Given the description of an element on the screen output the (x, y) to click on. 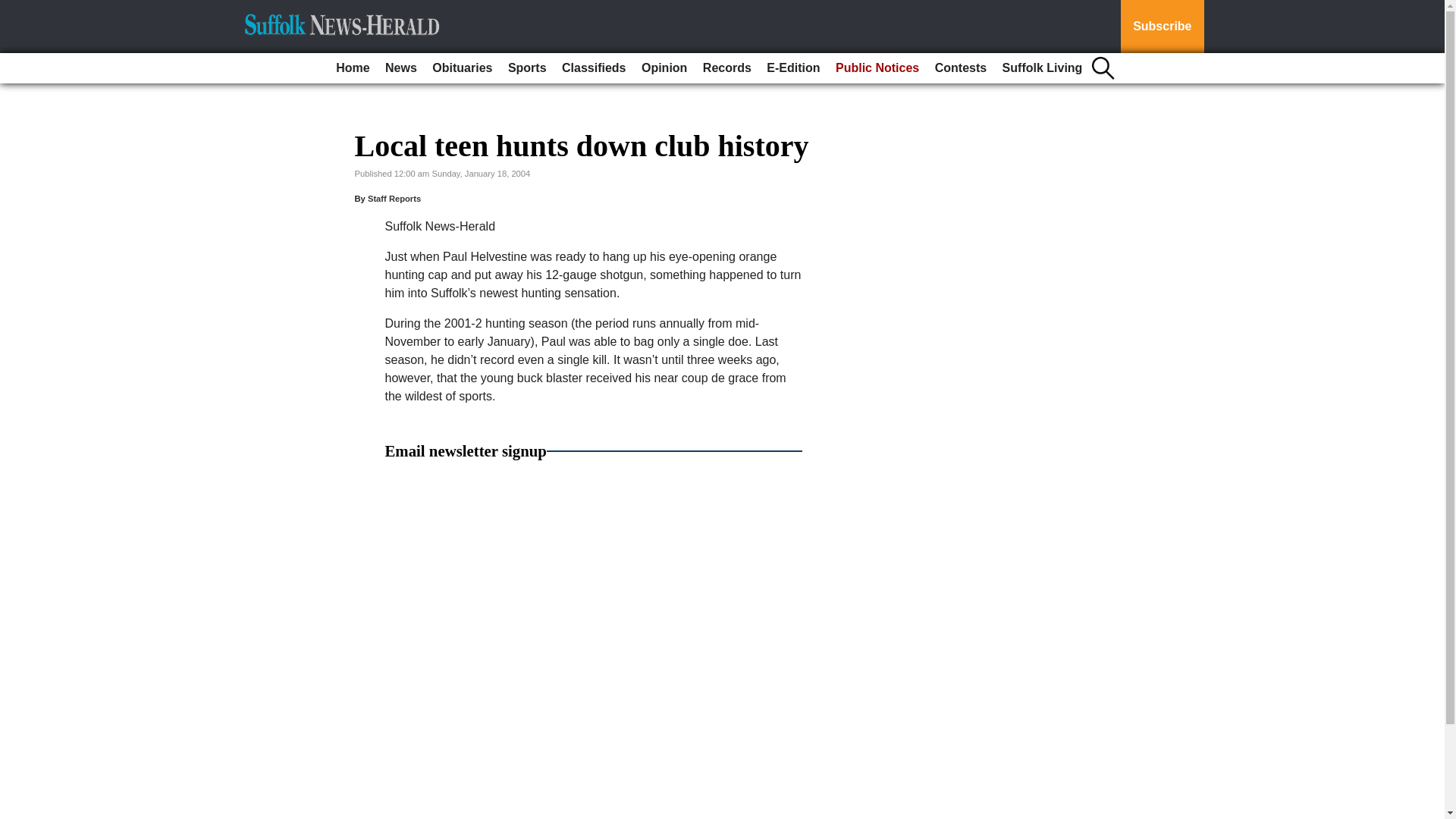
Records (727, 68)
Home (352, 68)
Opinion (663, 68)
Subscribe (1162, 26)
Go (13, 9)
Classifieds (593, 68)
E-Edition (792, 68)
Sports (527, 68)
Suffolk Living (1042, 68)
Contests (960, 68)
News (400, 68)
Staff Reports (394, 198)
Public Notices (876, 68)
Obituaries (461, 68)
